Given the description of an element on the screen output the (x, y) to click on. 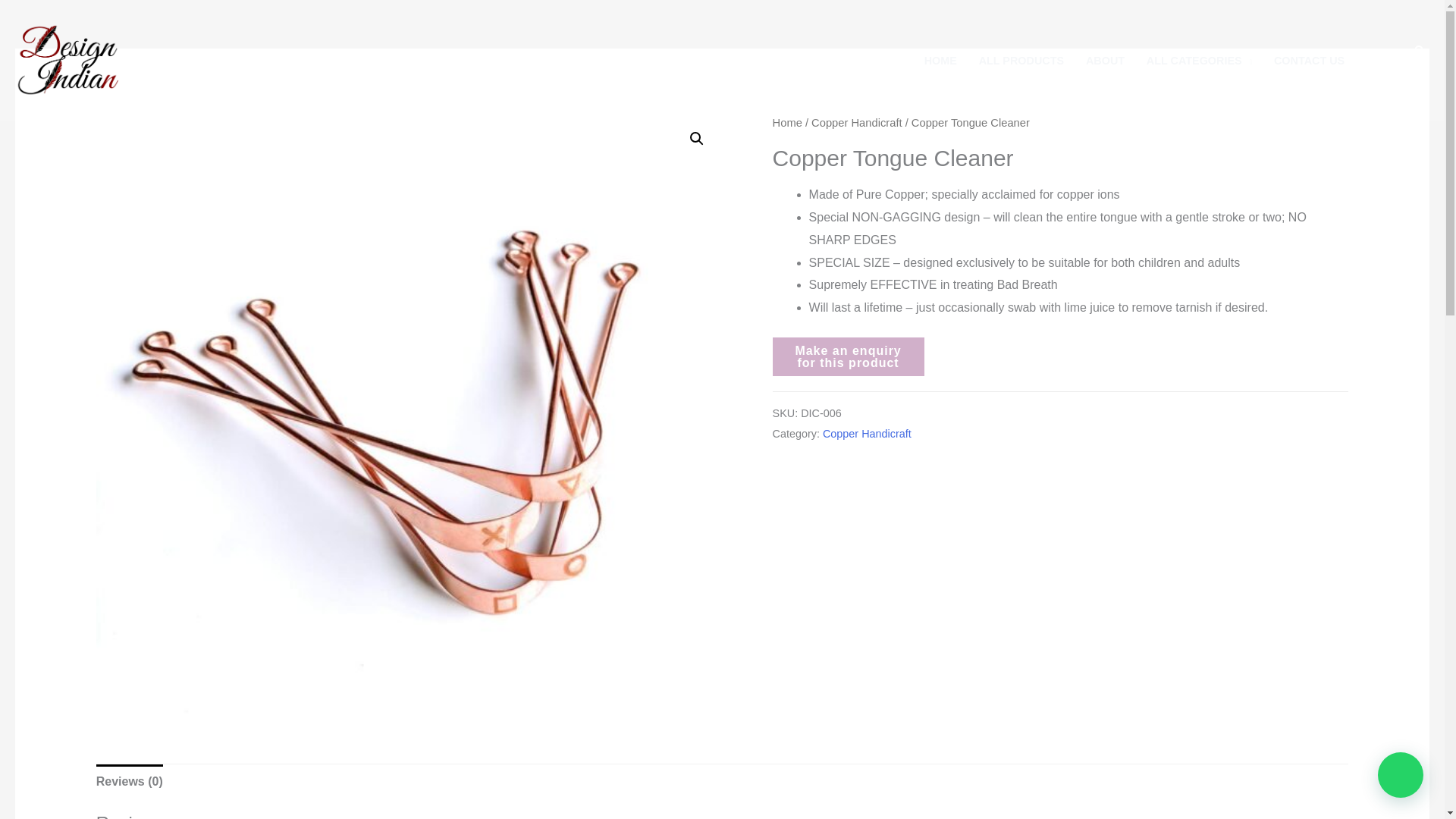
CONTACT US (1309, 60)
HOME (940, 60)
View your shopping cart (1400, 60)
ALL PRODUCTS (1021, 60)
Make an enquiry for this product (848, 356)
ALL CATEGORIES (1198, 60)
ABOUT (1105, 60)
